Given the description of an element on the screen output the (x, y) to click on. 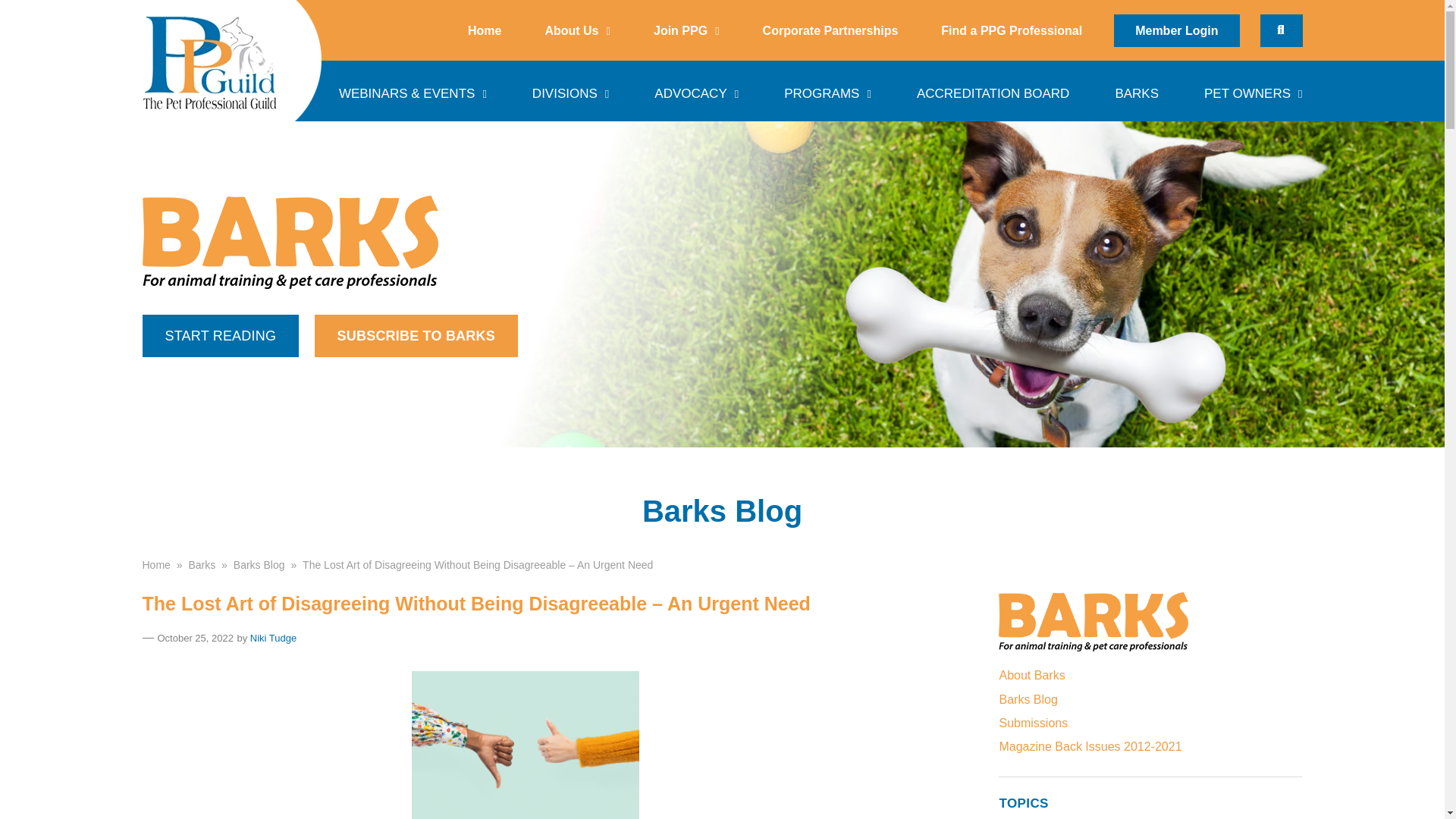
Corporate Partnerships (830, 30)
Member Login (1176, 29)
Join PPG (686, 30)
About Us (576, 30)
Go to Pet Professional Guild. (156, 563)
Go to Barks. (201, 563)
Home (484, 30)
Go to Barks Blog. (258, 563)
Find a PPG Professional (1011, 30)
DIVISIONS (570, 90)
